Given the description of an element on the screen output the (x, y) to click on. 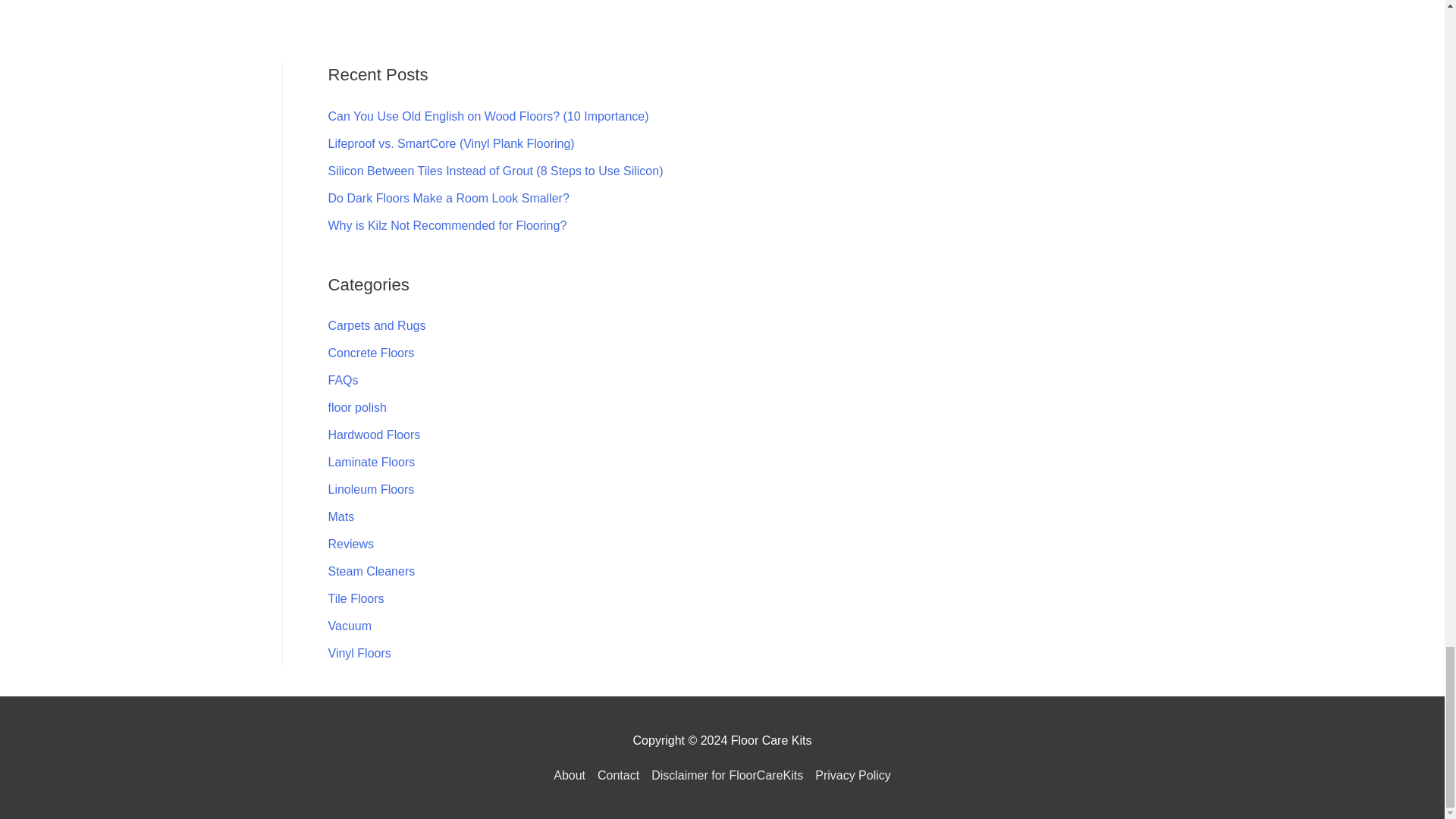
Do Dark Floors Make a Room Look Smaller? (448, 197)
Why is Kilz Not Recommended for Flooring? (446, 225)
